Given the description of an element on the screen output the (x, y) to click on. 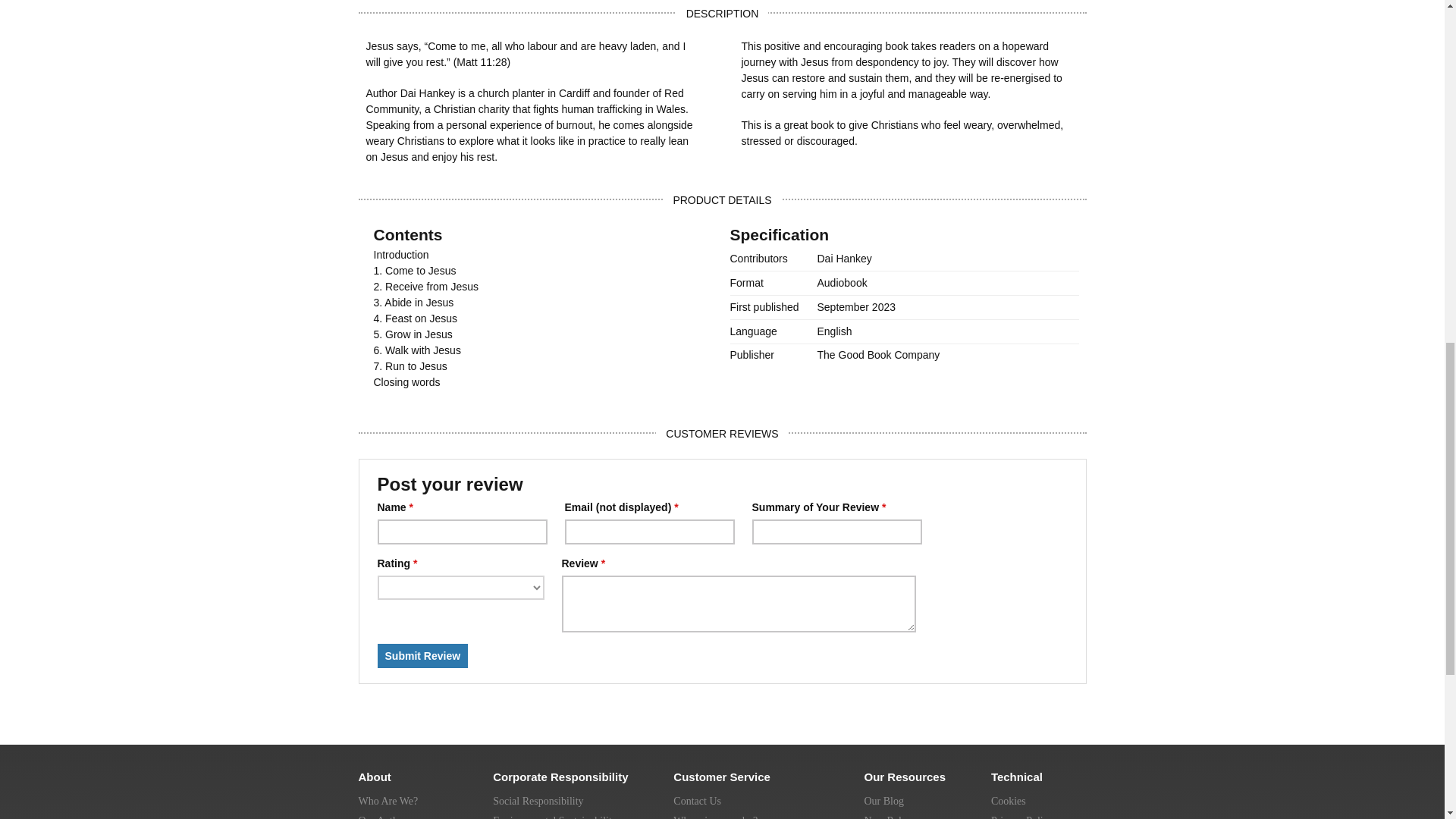
Submit Review (422, 655)
